Given the description of an element on the screen output the (x, y) to click on. 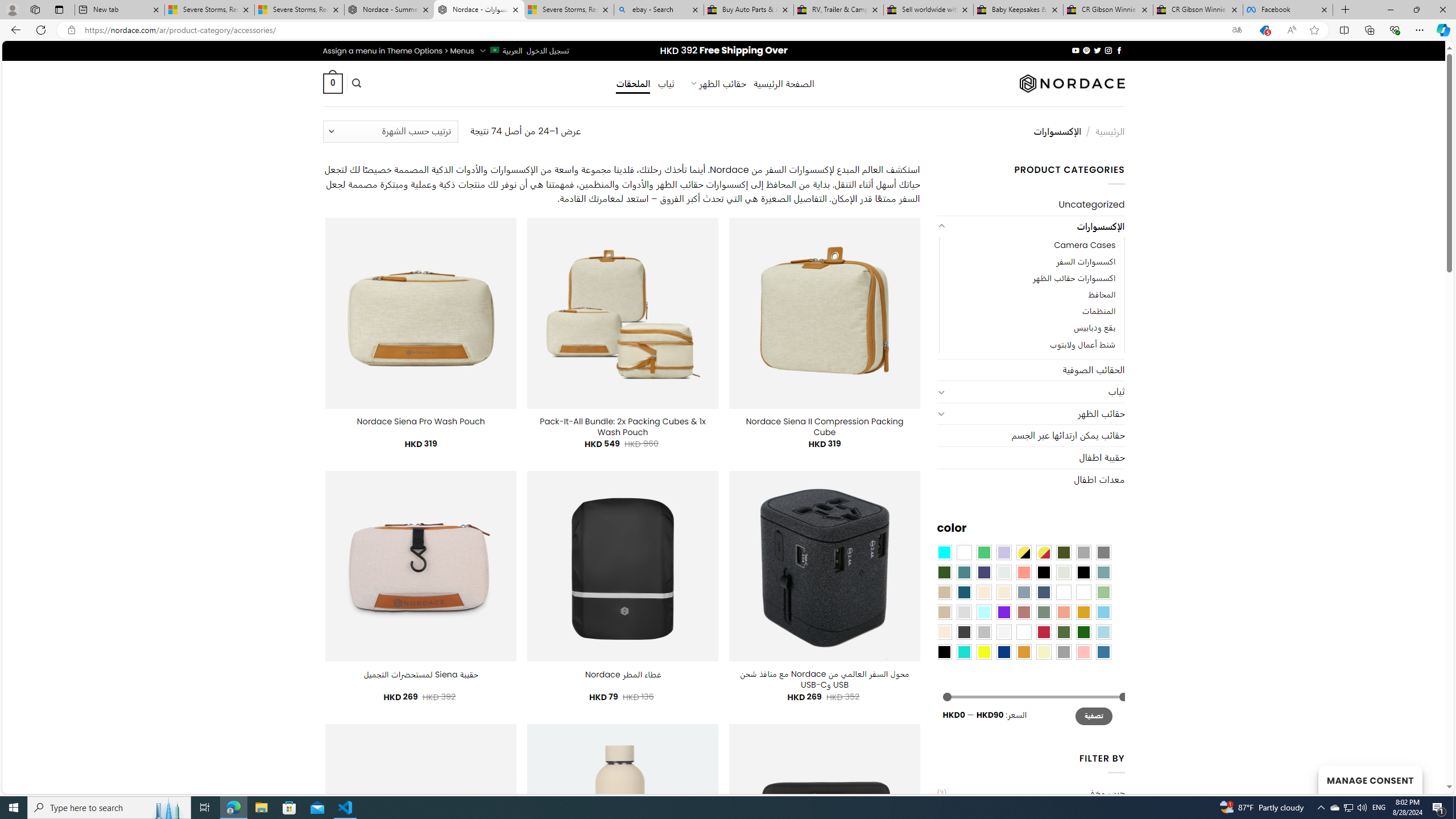
Split screen (1344, 29)
Buy Auto Parts & Accessories | eBay (747, 9)
Capri Blue (963, 591)
